Given the description of an element on the screen output the (x, y) to click on. 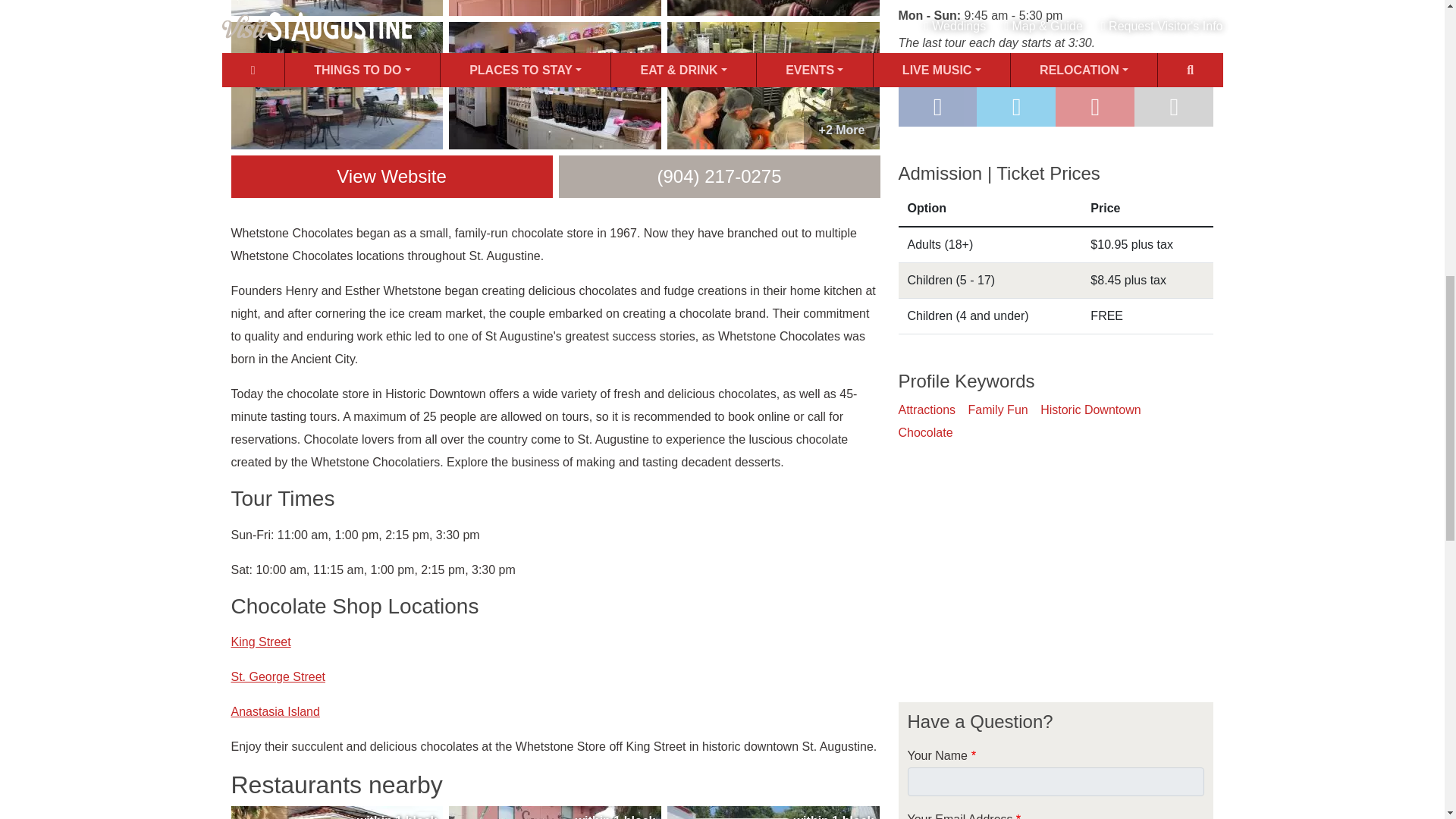
Share on Facebook (937, 106)
Share on Twitter (1015, 106)
The entrance of Whetstone Chocolates on King Street (336, 7)
Delicious drizzled chocolates at Whetstone Chocolates (772, 7)
Cafe seating in front of Whetstone Chocolates on King Street (336, 85)
Whetstone Chocolates Tasting Tour, available daily. (772, 85)
